Given the description of an element on the screen output the (x, y) to click on. 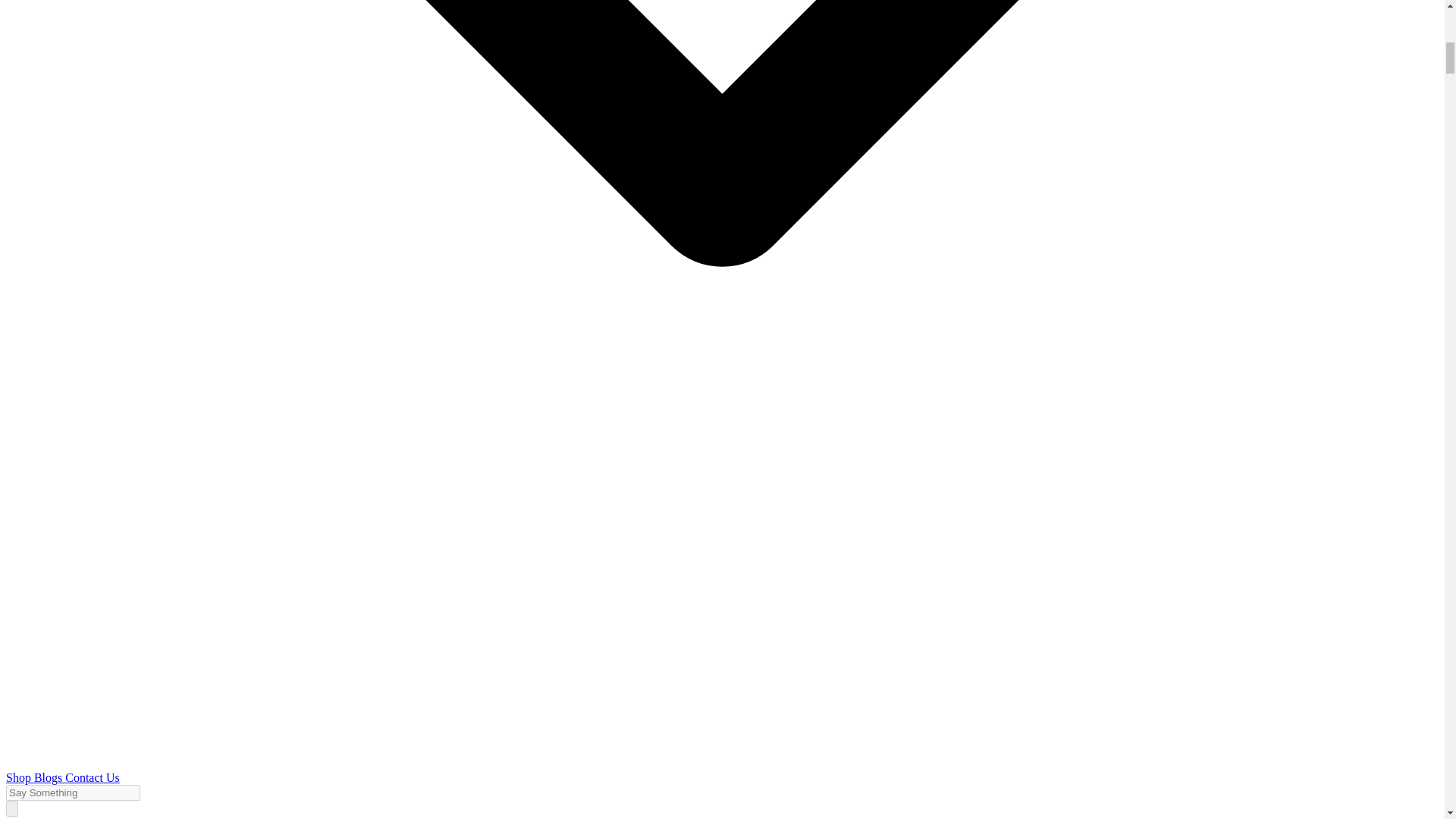
Contact Us (92, 777)
Shop (19, 777)
Blogs (49, 777)
